Given the description of an element on the screen output the (x, y) to click on. 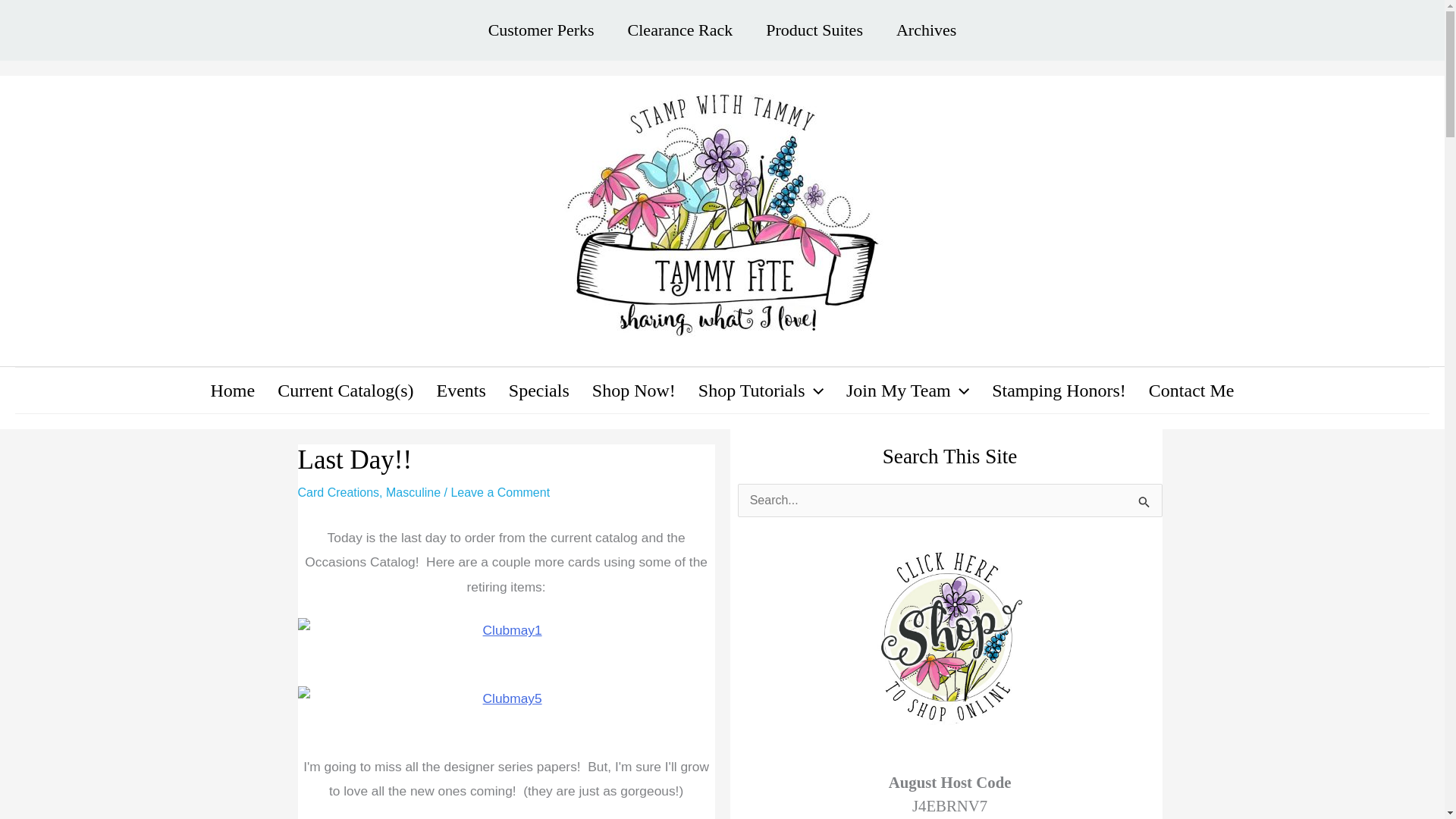
Specials (538, 390)
Clubmay1 (505, 630)
Clubmay5 (505, 698)
Home (232, 390)
Customer Perks (541, 30)
Contact Me (1191, 390)
Join My Team (906, 390)
Stamping Honors! (1058, 390)
Clearance Rack (680, 30)
Card Creations (337, 492)
